Given the description of an element on the screen output the (x, y) to click on. 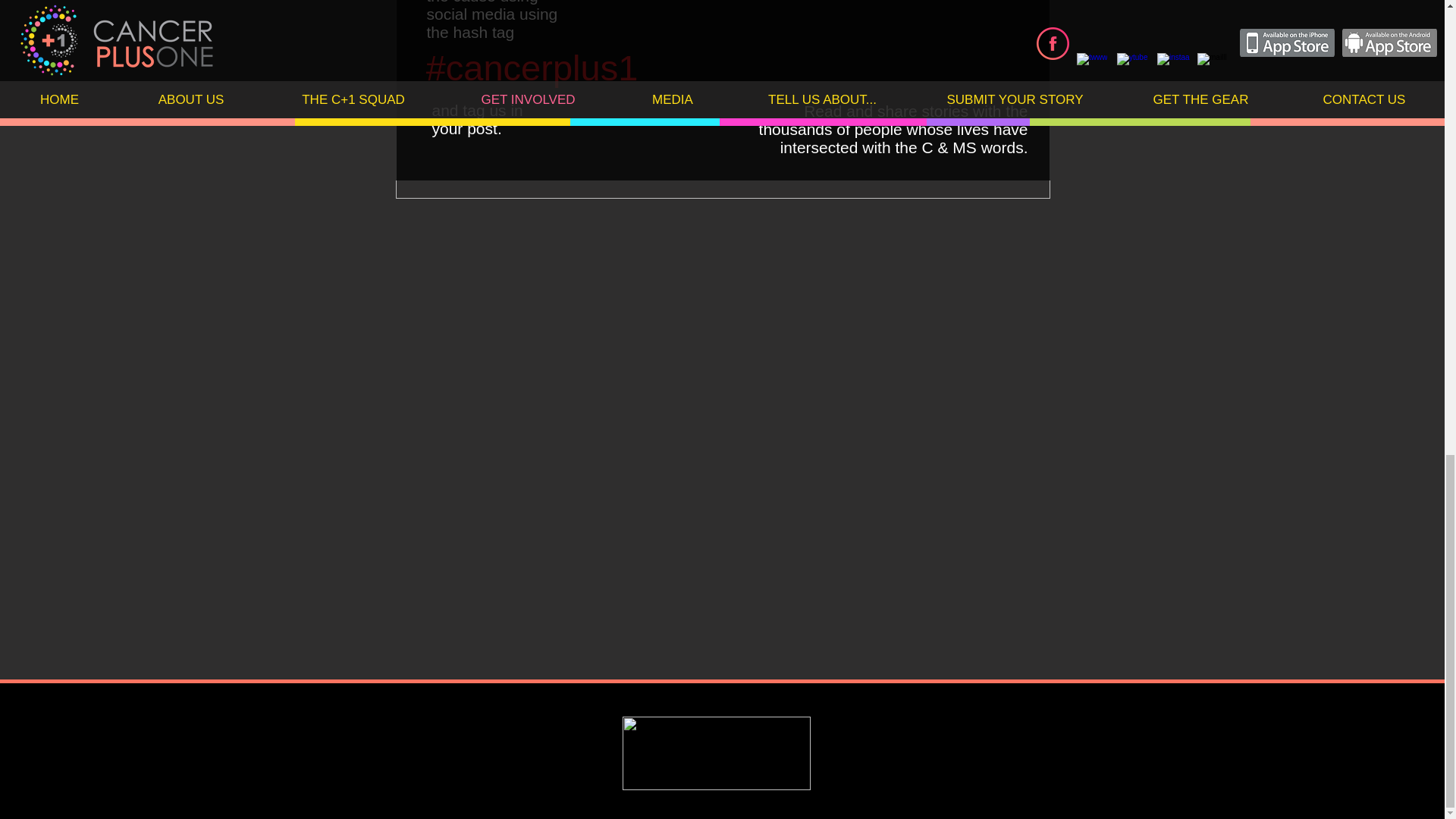
JPixStudio-2503 copy.jpg (722, 99)
